Given the description of an element on the screen output the (x, y) to click on. 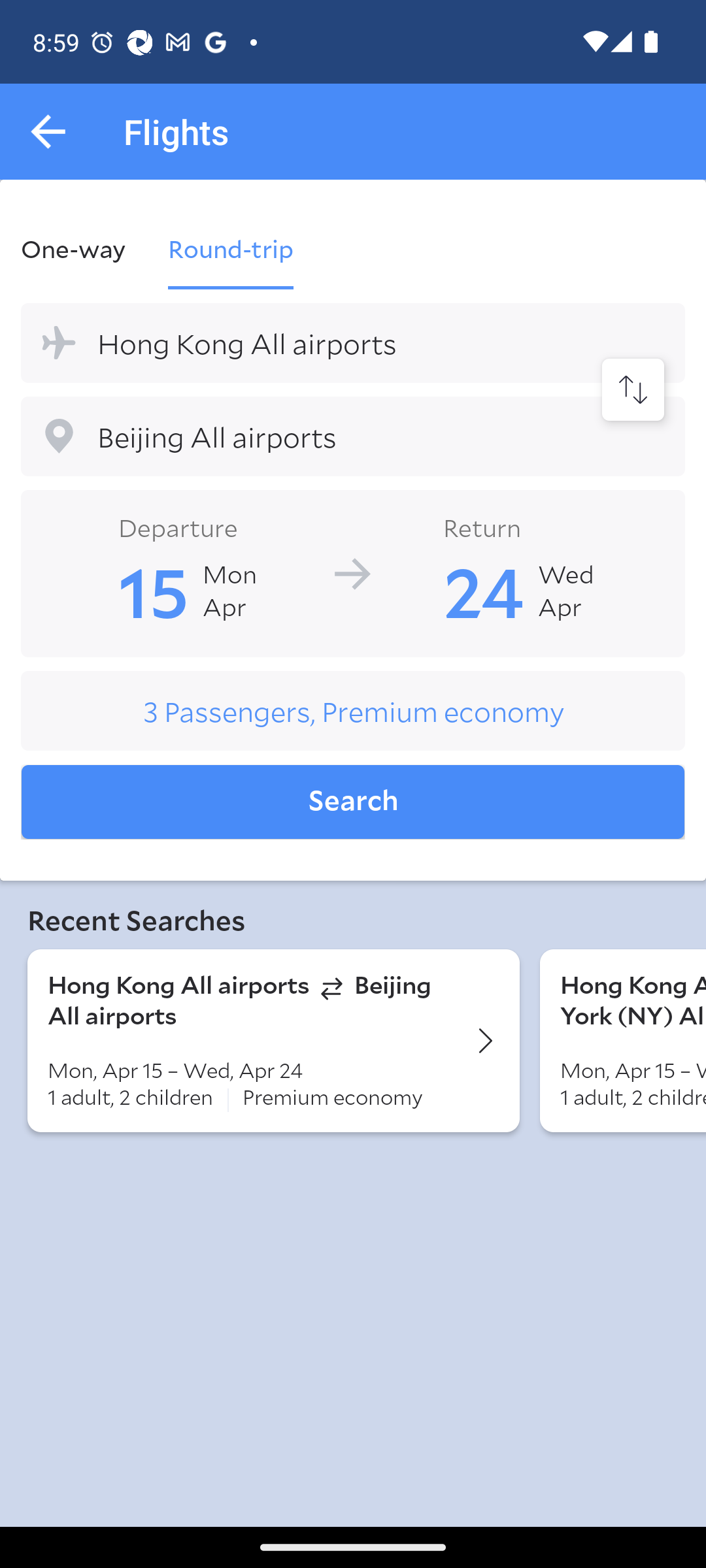
One-way (83, 248)
Hong Kong All airports (352, 342)
Beijing All airports (352, 436)
Departure 15 Mon Apr Return 24 Wed Apr (352, 572)
3 Passengers, Premium economy (352, 711)
Search  Search (352, 801)
